Given the description of an element on the screen output the (x, y) to click on. 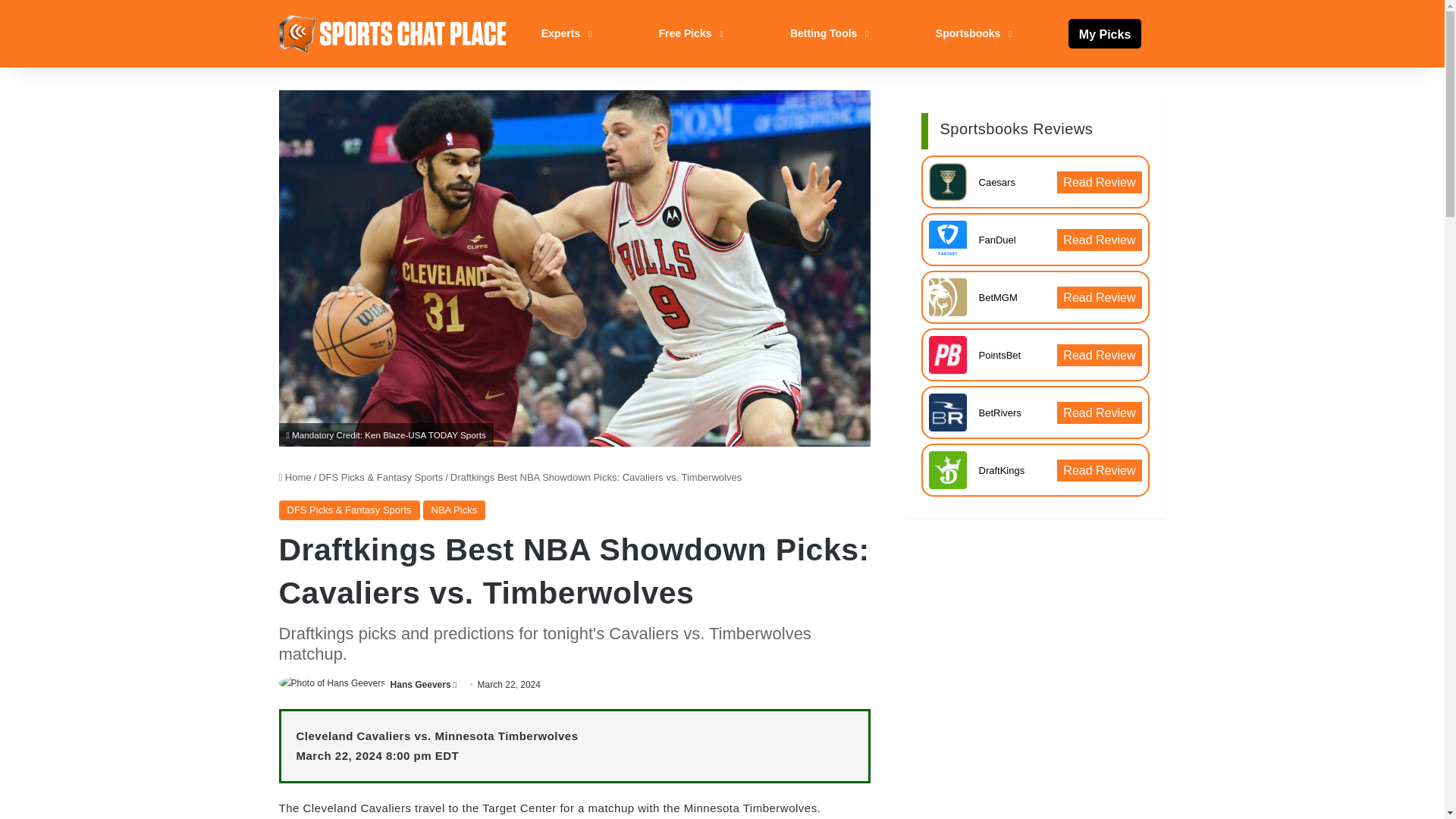
Sports Chat Place Picks, Betting News (392, 33)
Experts (564, 33)
Free Picks (688, 33)
Hans Geevers (420, 684)
Betting Tools (827, 33)
